Given the description of an element on the screen output the (x, y) to click on. 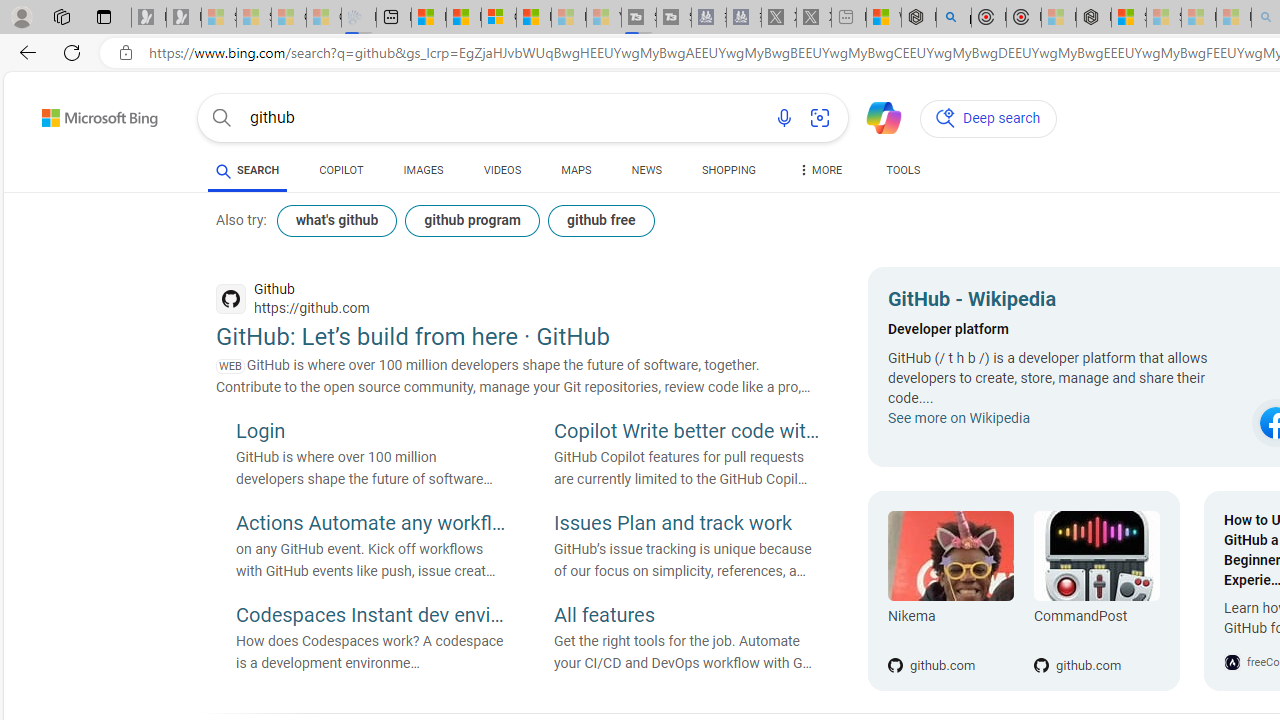
Nikema Nikema github.com (950, 591)
COPILOT (341, 170)
VIDEOS (501, 170)
IMAGES (423, 170)
github free (600, 220)
Nikema (950, 556)
CommandPost (1096, 619)
Newsletter Sign Up - Sleeping (183, 17)
TOOLS (903, 170)
Streaming Coverage | T3 - Sleeping (639, 17)
